Given the description of an element on the screen output the (x, y) to click on. 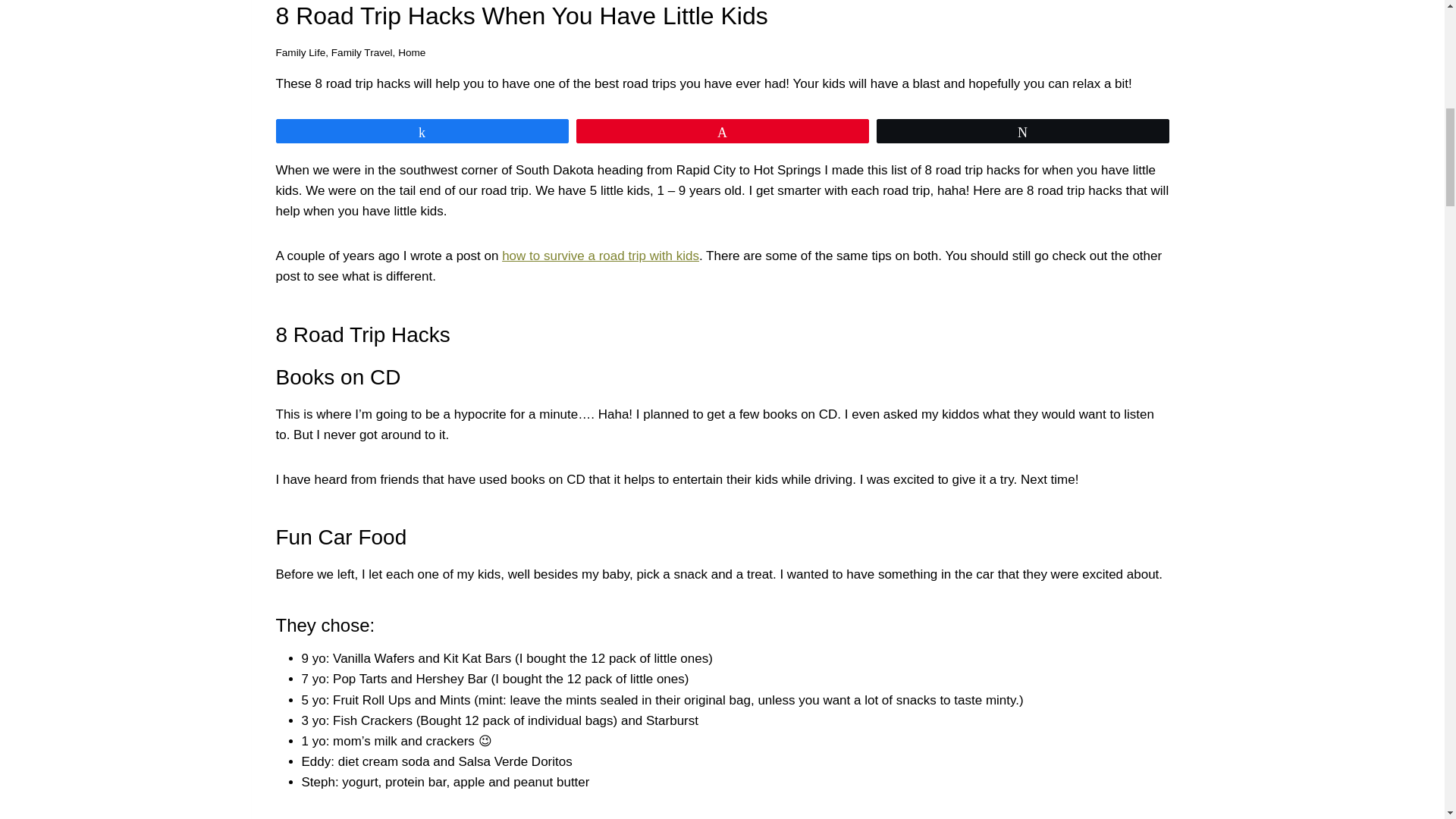
Family Travel (362, 52)
Home (411, 52)
how to survive a road trip with kids (600, 255)
Family Life (301, 52)
